Given the description of an element on the screen output the (x, y) to click on. 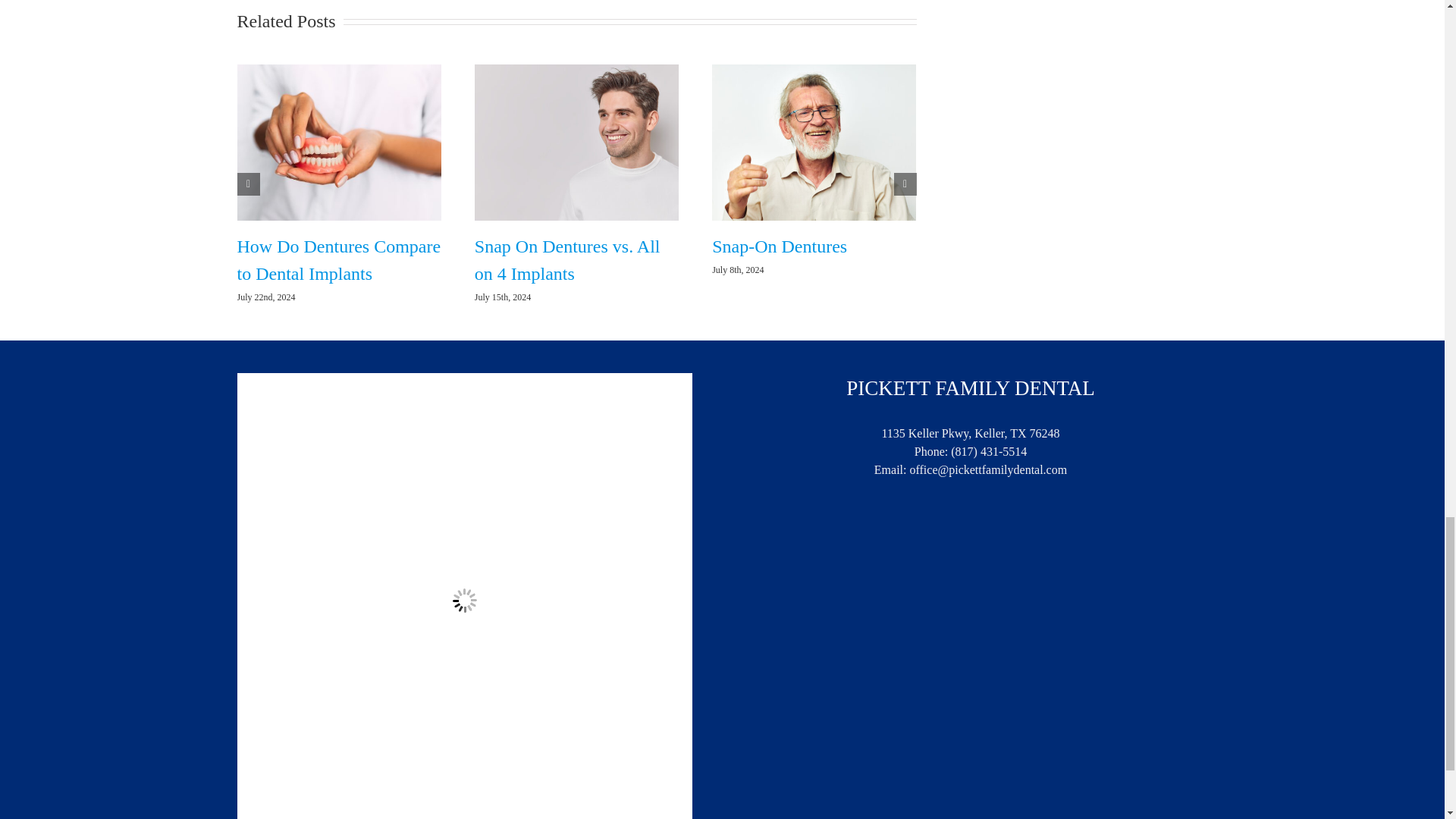
YouTube video player 1 (576, 28)
How Do Dentures Compare to Dental Implants (338, 259)
Snap On Dentures vs. All on 4 Implants (567, 259)
Snap-On Dentures (779, 246)
